Given the description of an element on the screen output the (x, y) to click on. 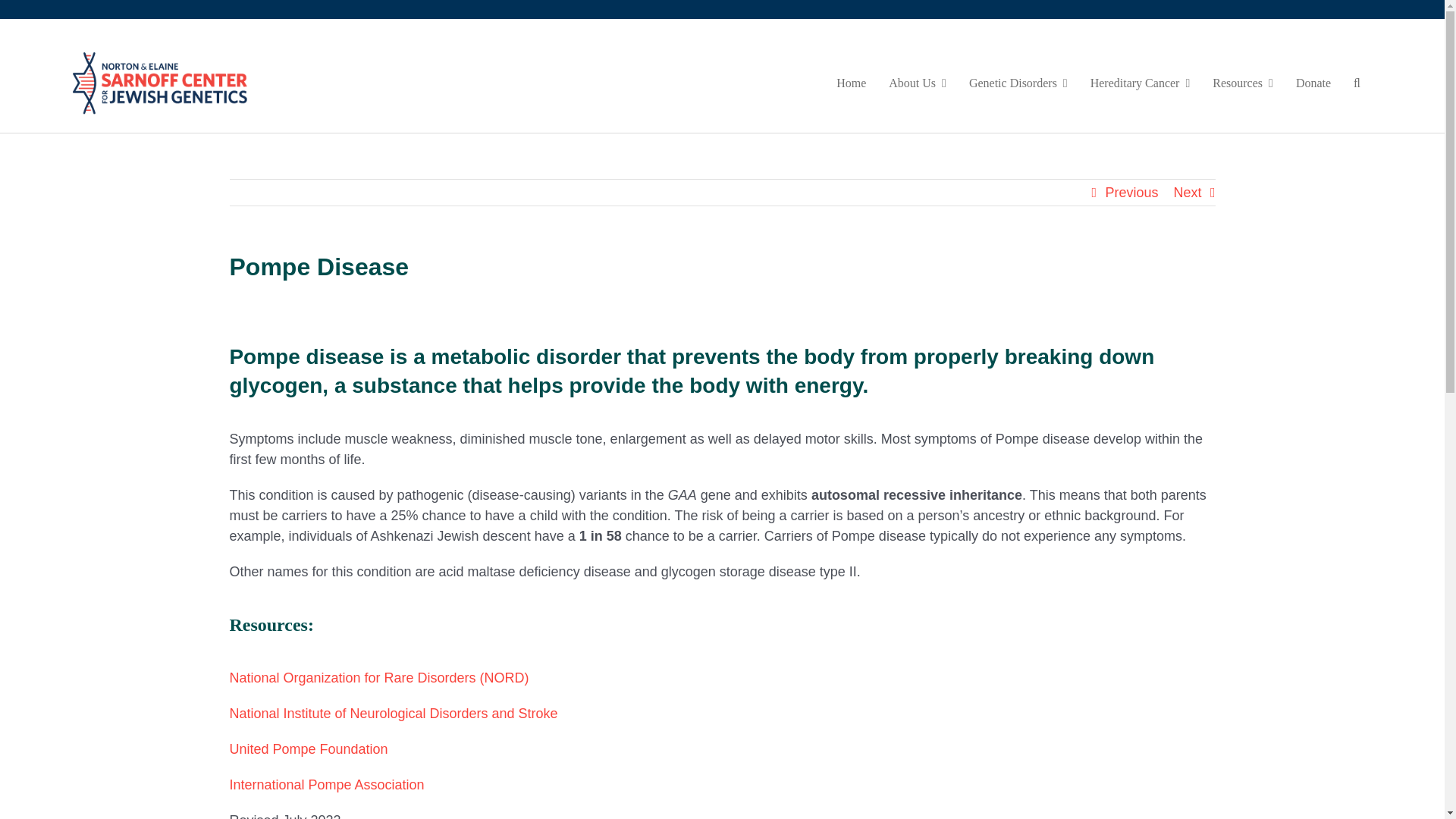
Hereditary Cancer (1140, 83)
Genetic Disorders (1017, 83)
Previous (1131, 192)
Next (1187, 192)
